Given the description of an element on the screen output the (x, y) to click on. 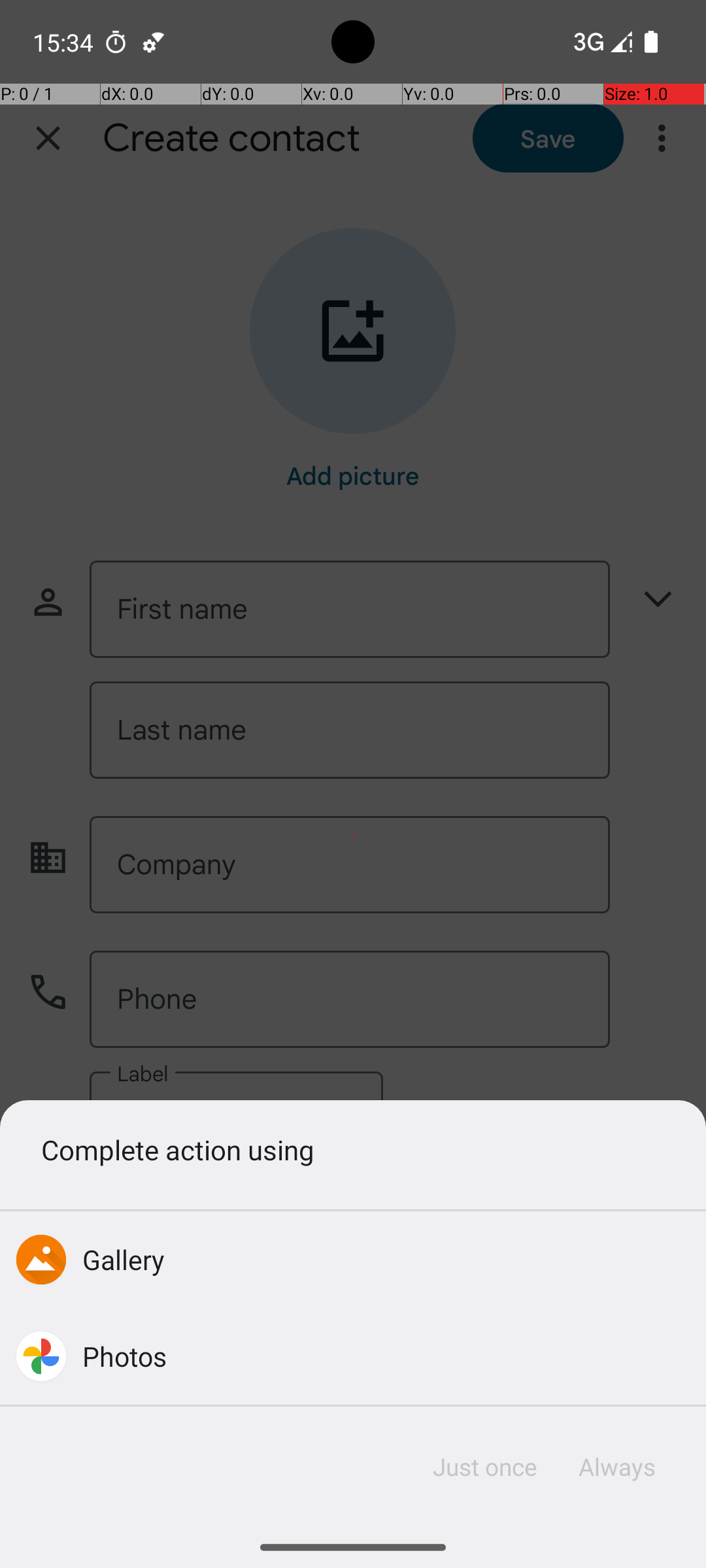
Complete action using Element type: android.widget.TextView (352, 1149)
